Given the description of an element on the screen output the (x, y) to click on. 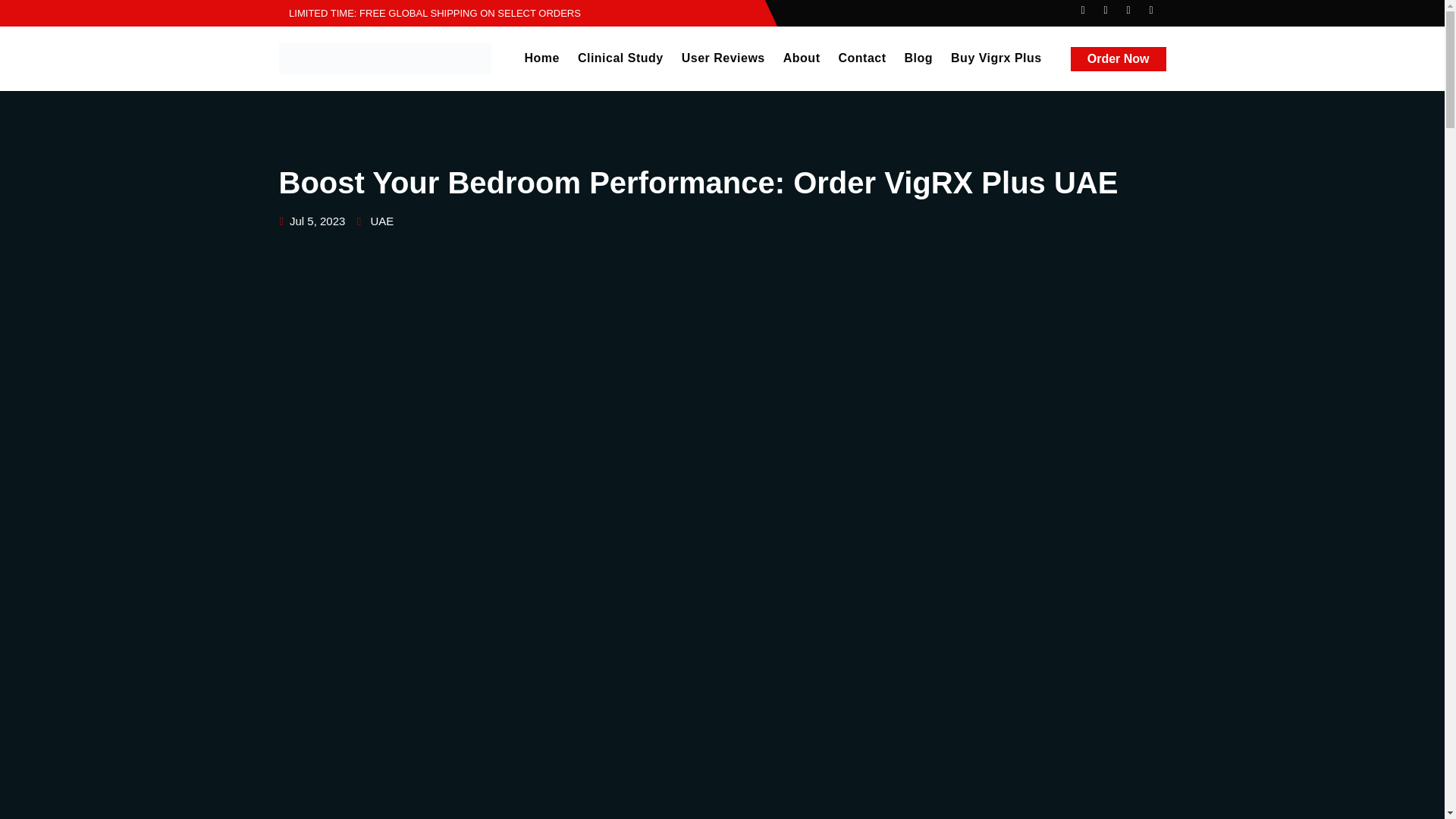
User Reviews (723, 57)
Contact (861, 57)
About (801, 57)
Contact (861, 57)
UAE (381, 221)
About (801, 57)
Buy Vigrx Plus (996, 57)
User Reviews (723, 57)
Home (541, 57)
LIMITED TIME: FREE GLOBAL SHIPPING ON SELECT ORDERS (429, 12)
